Given the description of an element on the screen output the (x, y) to click on. 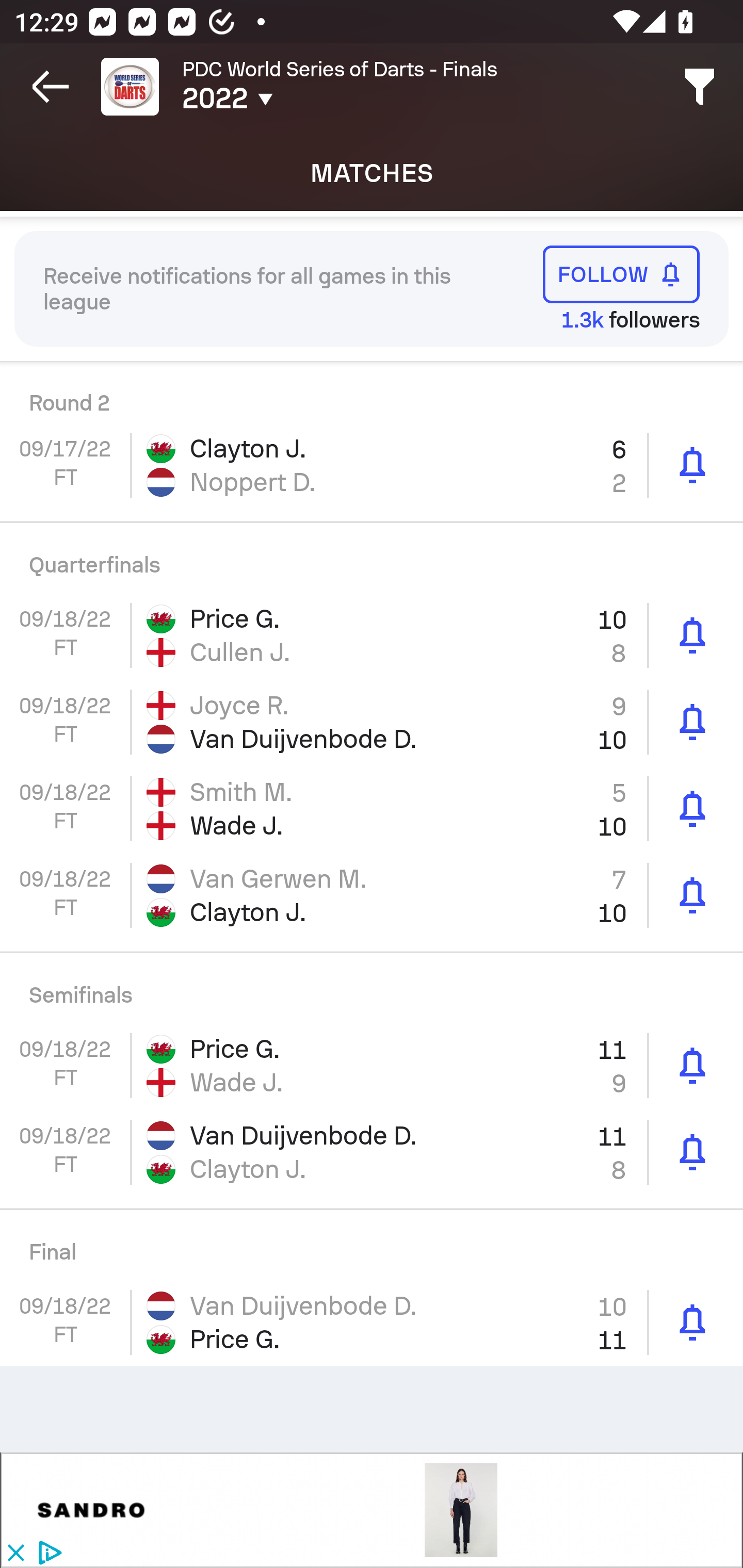
Navigate up (50, 86)
Find (699, 86)
2022 (300, 98)
FOLLOW (621, 274)
09/17/22 FT Smith M. 6 Wright P. 4 (371, 390)
09/17/22 FT Clayton J. 6 Noppert D. 2 (371, 464)
Quarterfinals (371, 557)
09/18/22 FT Price G. 10 Cullen J. 8 (371, 635)
09/18/22 FT Joyce R. 10 9 Van Duijvenbode D. (371, 721)
09/18/22 FT Smith M. 10 5 Wade J. (371, 808)
09/18/22 FT Van Gerwen M. 10 7 Clayton J. (371, 895)
Semifinals (371, 987)
09/18/22 FT Price G. 11 Wade J. 9 (371, 1065)
09/18/22 FT Van Duijvenbode D. 11 Clayton J. 8 (371, 1151)
Final (371, 1244)
09/18/22 FT Van Duijvenbode D. 10 Price G. 11 (371, 1322)
   (91, 1509)
   (461, 1510)
close_button (14, 1553)
privacy_small (47, 1553)
